Given the description of an element on the screen output the (x, y) to click on. 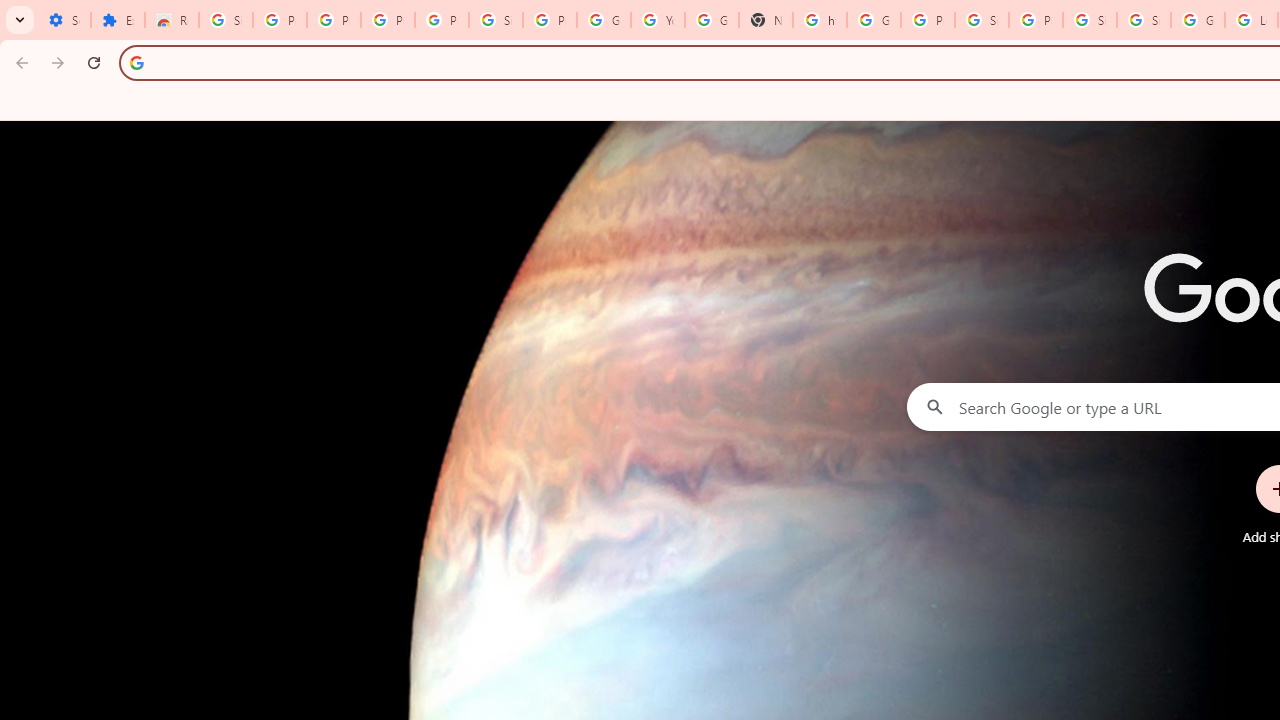
Extensions (117, 20)
Reviews: Helix Fruit Jump Arcade Game (171, 20)
Sign in - Google Accounts (1144, 20)
Sign in - Google Accounts (225, 20)
New Tab (765, 20)
Sign in - Google Accounts (1089, 20)
